Given the description of an element on the screen output the (x, y) to click on. 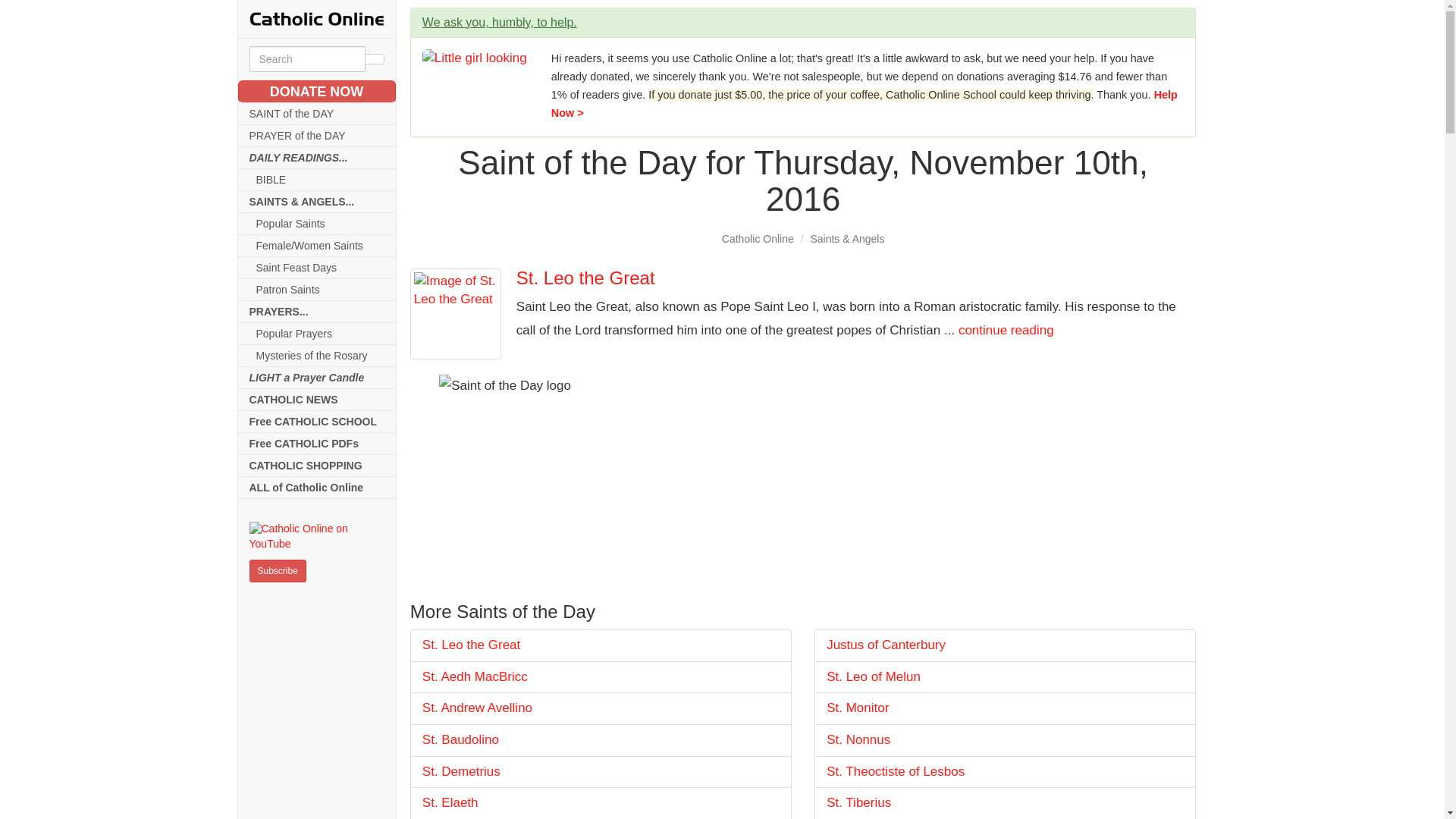
Catholic Online on YouTube (316, 536)
CATHOLIC SHOPPING (317, 465)
Patron Saints (317, 290)
Subscribe to Catholic Online Newsletter (276, 570)
We ask you, humbly, to help. (499, 21)
St. Leo the Great (601, 645)
DAILY READINGS... (317, 157)
CATHOLIC NEWS (317, 400)
ALL of Catholic Online (317, 487)
Catholic Online: World's Catholic Library (316, 18)
SAINT of the DAY (317, 114)
Free CATHOLIC SCHOOL (317, 422)
Subscribe (276, 570)
St. Leo the Great (455, 313)
Mysteries of the Rosary (317, 355)
